Given the description of an element on the screen output the (x, y) to click on. 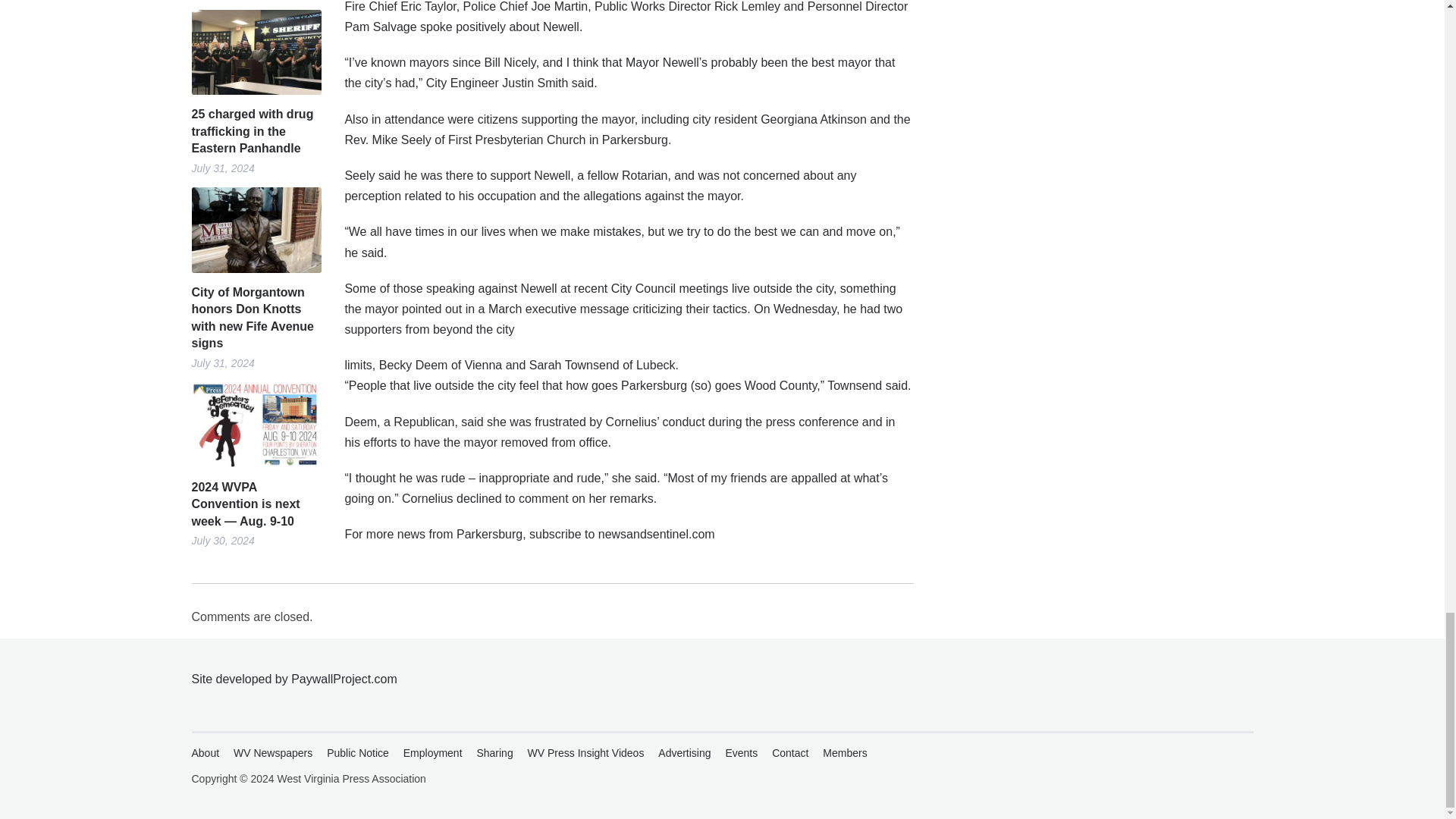
Page 3 (627, 449)
